Given the description of an element on the screen output the (x, y) to click on. 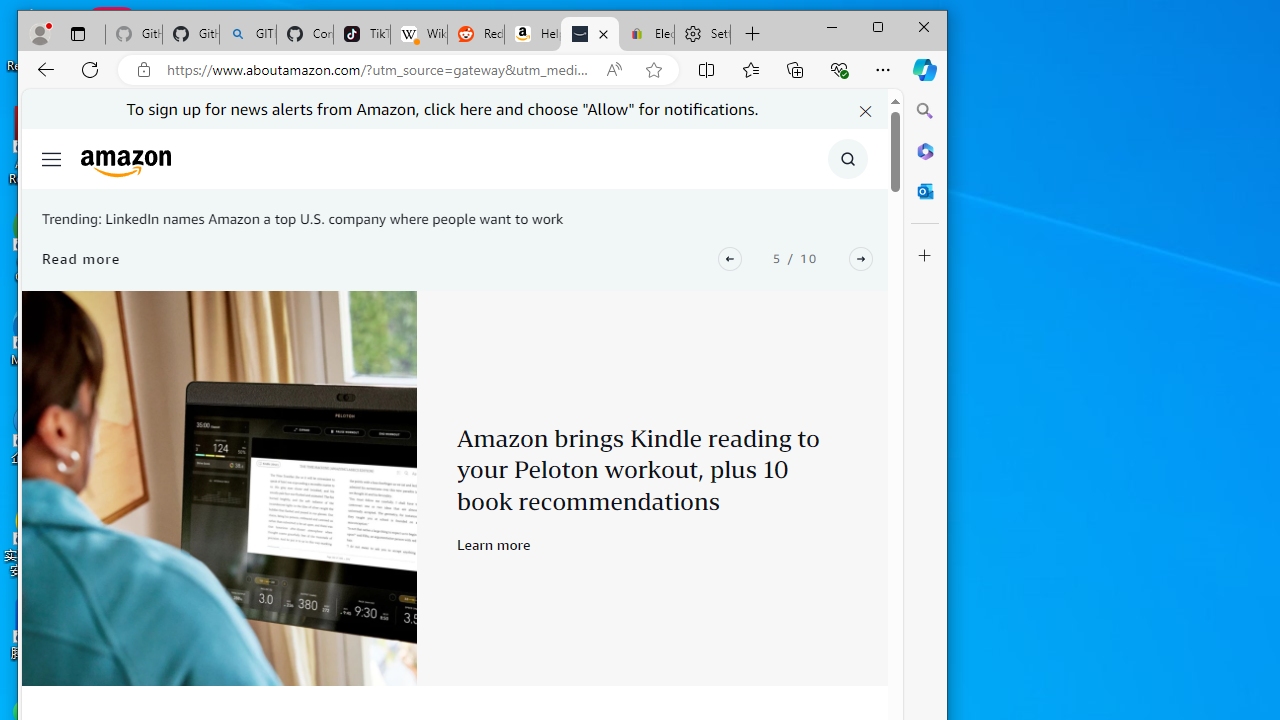
Menu (50, 158)
TikTok (362, 34)
Maximize (878, 26)
Peloton x Kindle (219, 488)
Class: flickity-button-icon (861, 258)
